Given the description of an element on the screen output the (x, y) to click on. 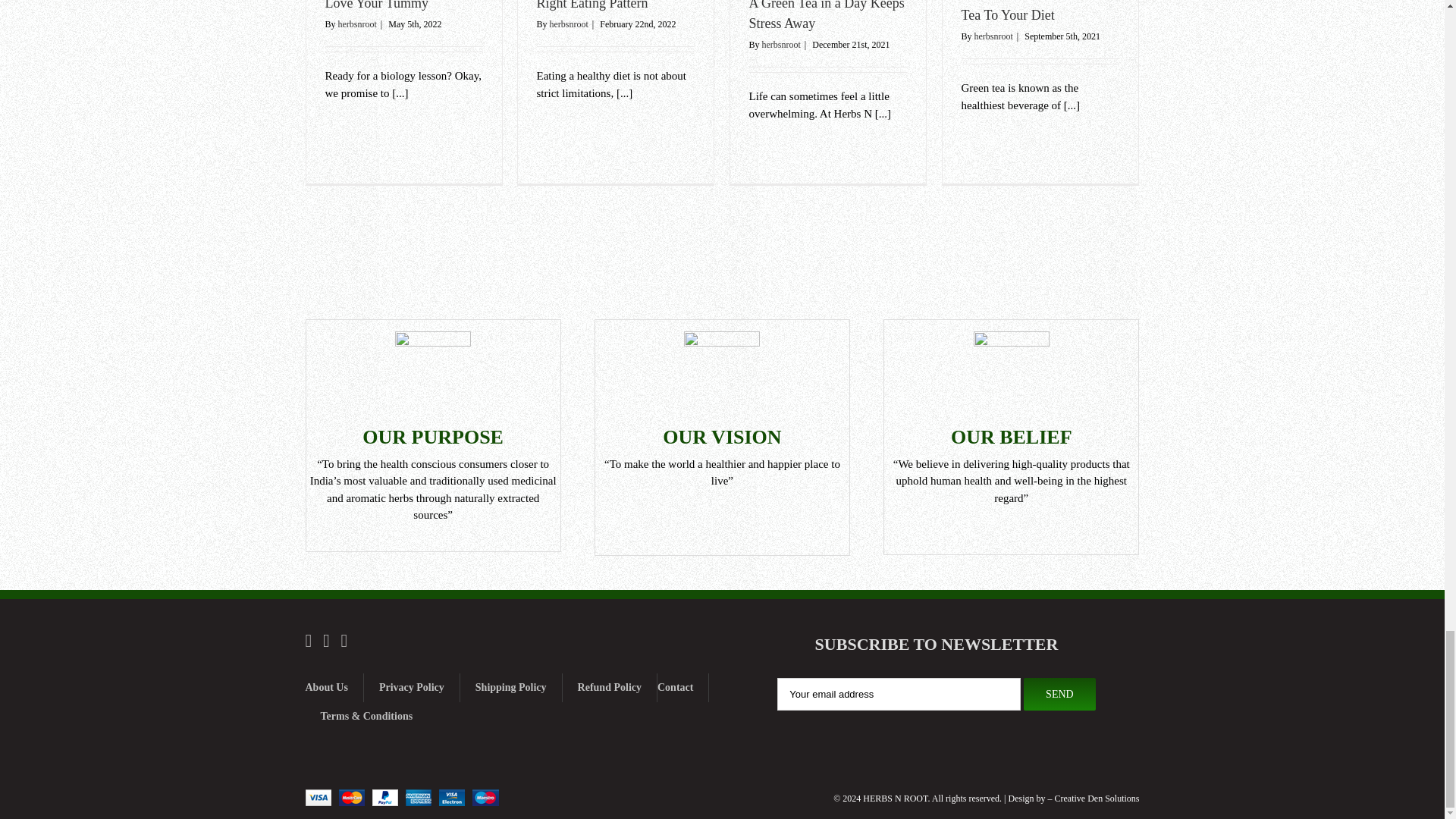
Posts by herbsnroot (780, 44)
Website Designing Company in Faridabad (1070, 798)
Posts by herbsnroot (993, 36)
Website Designing Development Company in Faridabad (1096, 798)
Posts by herbsnroot (357, 23)
Posts by herbsnroot (569, 23)
WebDesign Company in Palwal (1121, 798)
Send (1059, 694)
